Given the description of an element on the screen output the (x, y) to click on. 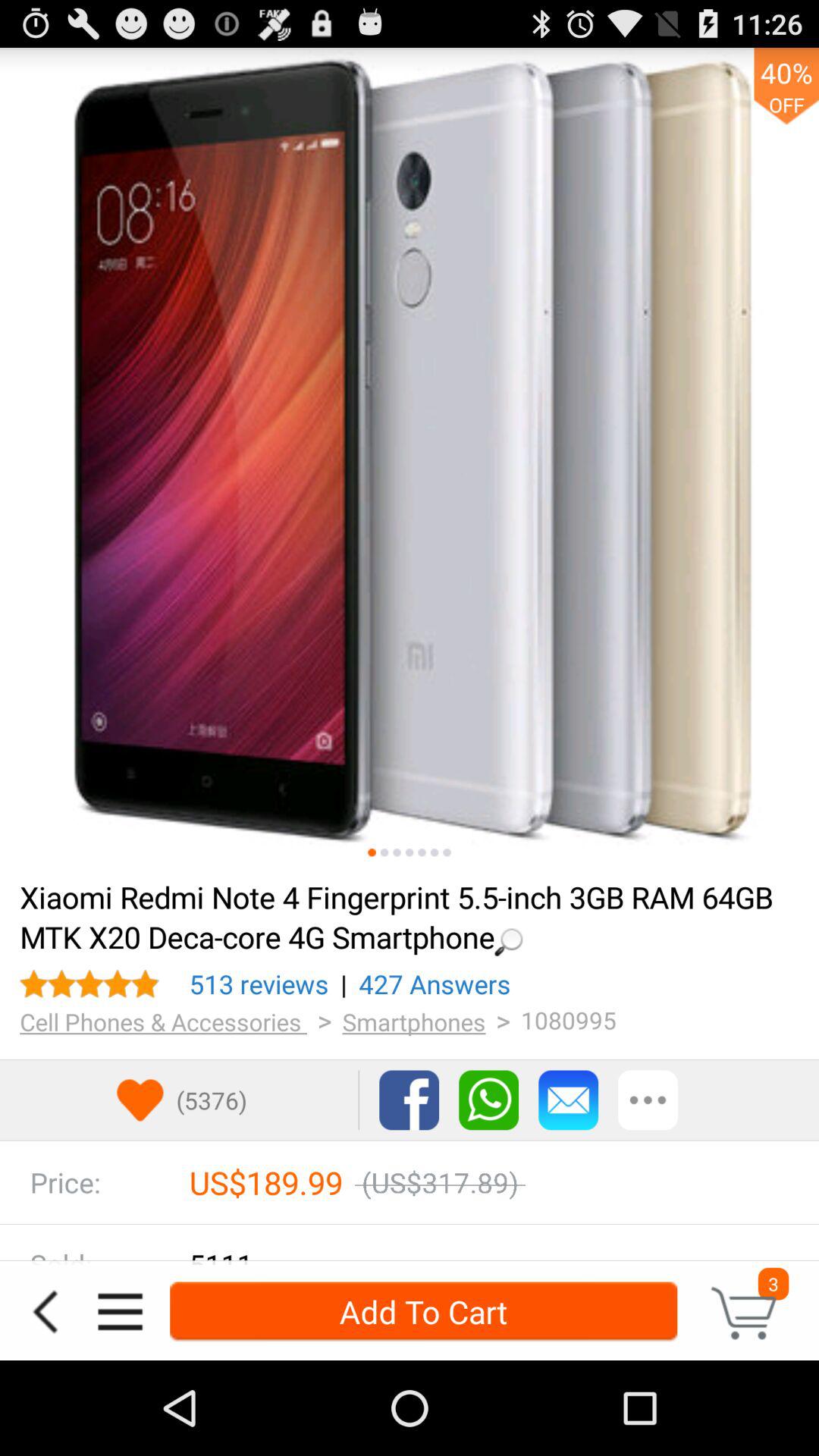
share email (568, 1100)
